Given the description of an element on the screen output the (x, y) to click on. 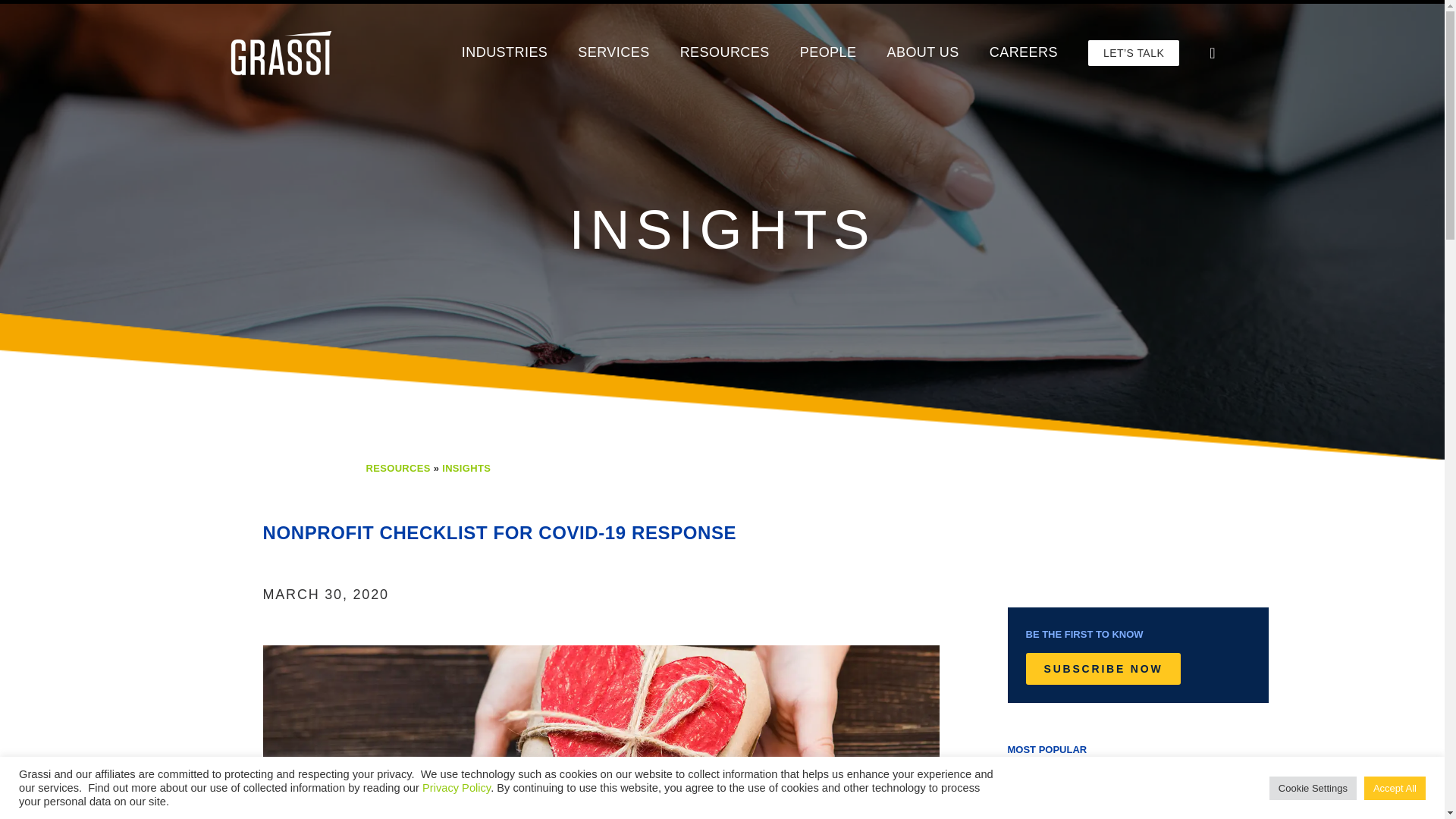
SERVICES (613, 52)
INDUSTRIES (504, 52)
